Given the description of an element on the screen output the (x, y) to click on. 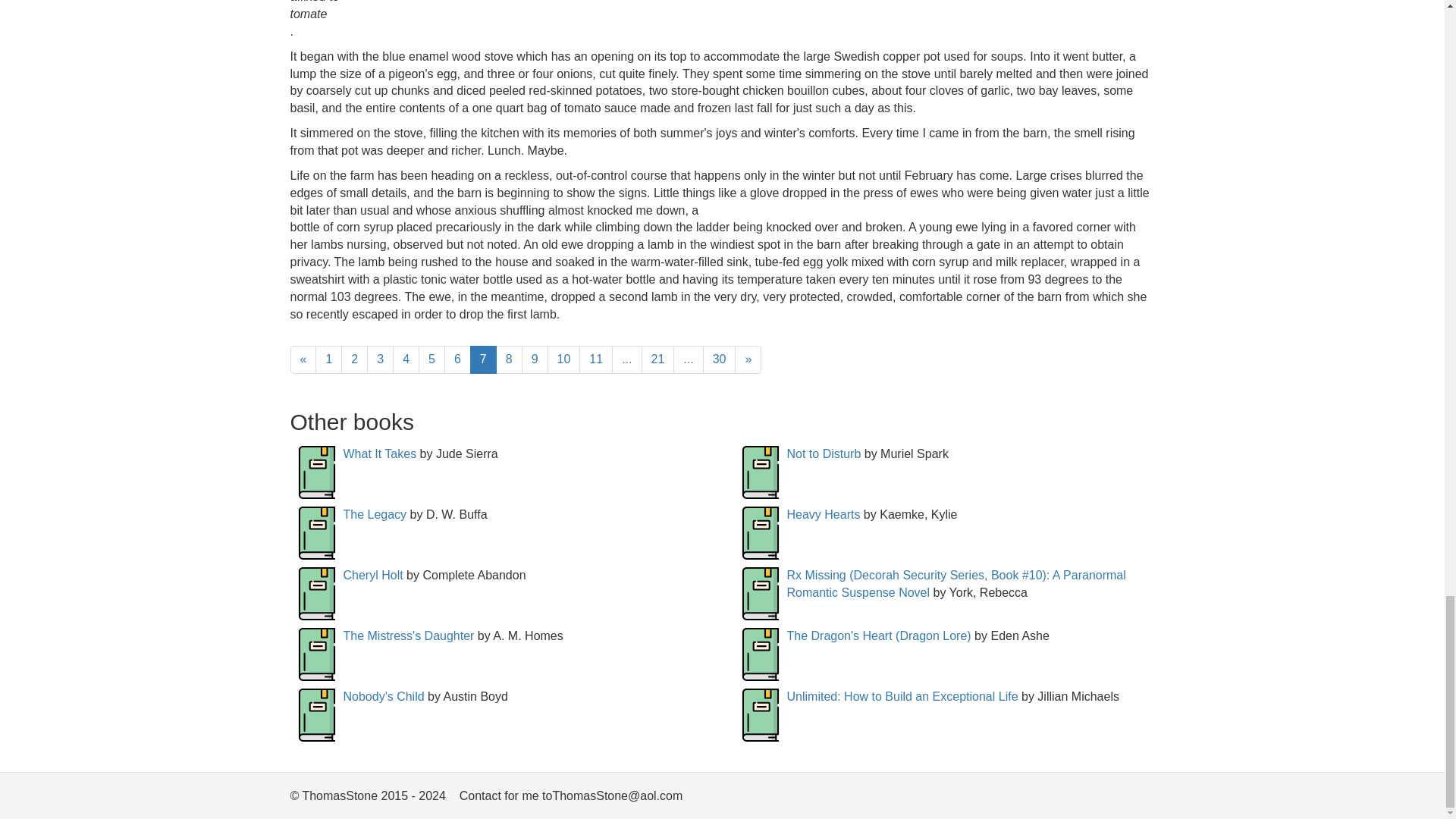
3 (379, 359)
1 (328, 359)
21 (658, 359)
6 (457, 359)
Cheryl Holt (372, 574)
Not to Disturb (824, 453)
11 (595, 359)
What It Takes (379, 453)
7 (483, 359)
10 (563, 359)
